Given the description of an element on the screen output the (x, y) to click on. 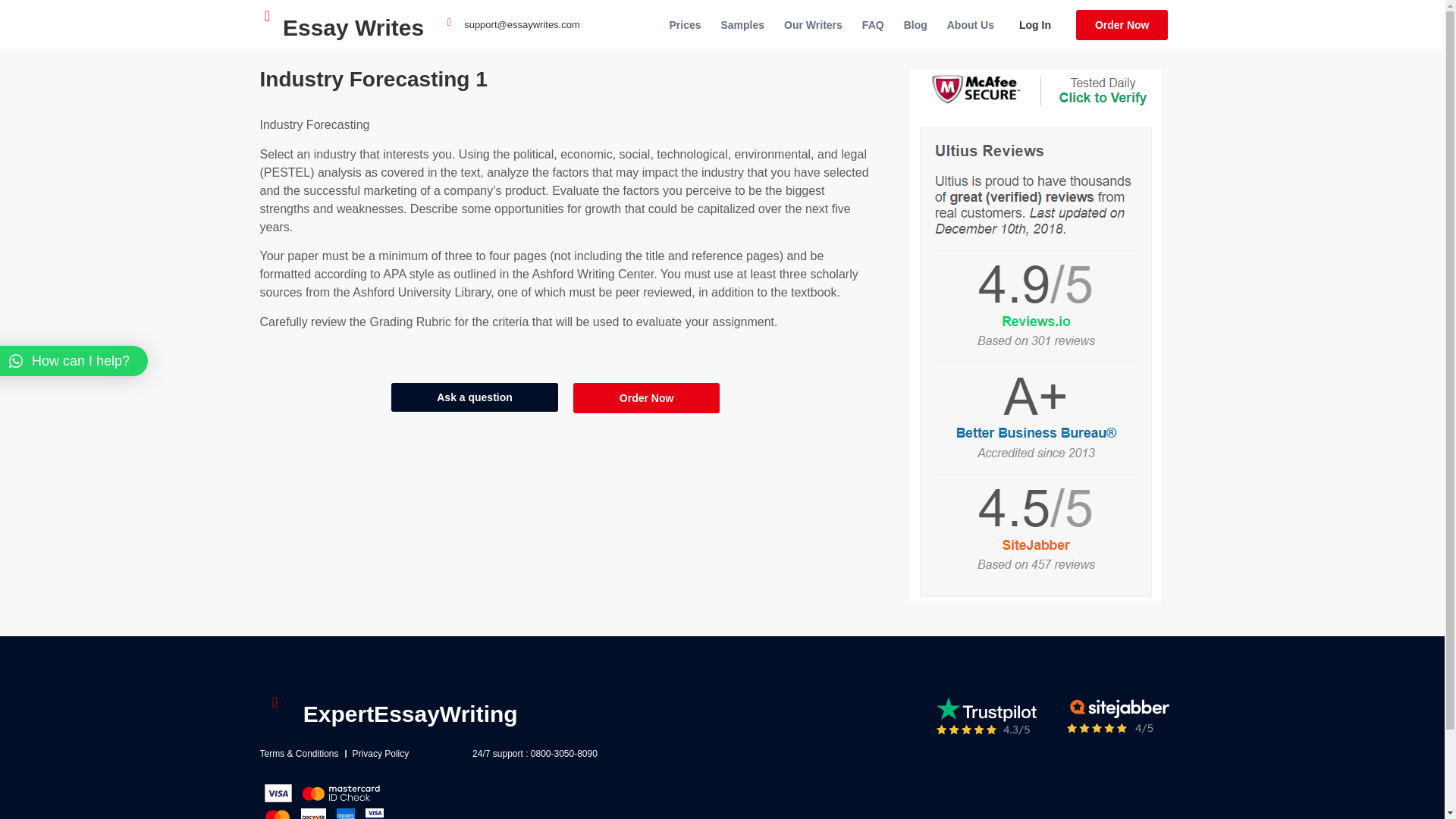
Blog (915, 24)
Essay Writes (352, 27)
Order Now (1122, 24)
FAQ (872, 24)
Prices (684, 24)
About Us (970, 24)
Samples (742, 24)
Our Writers (812, 24)
